Given the description of an element on the screen output the (x, y) to click on. 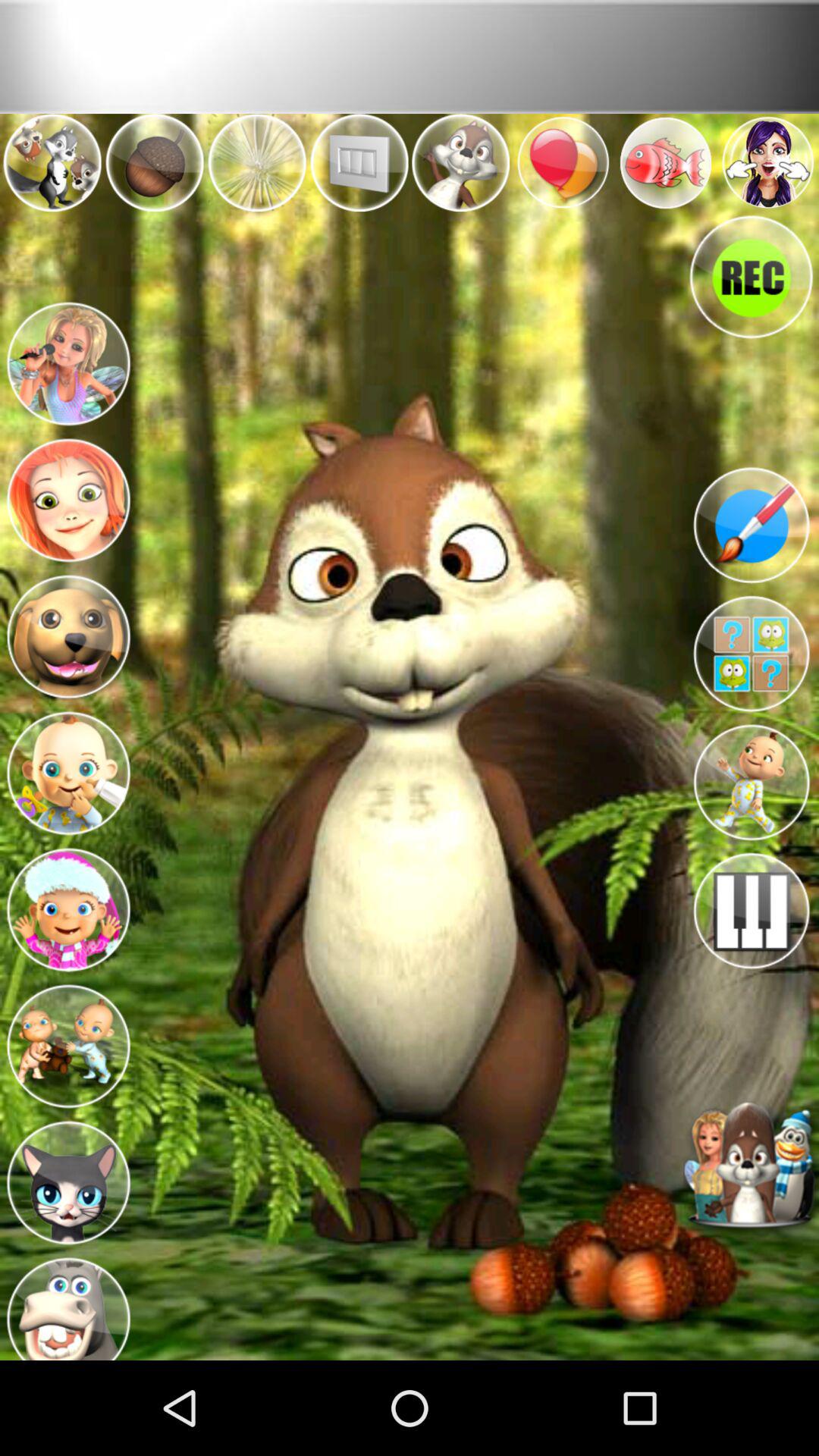
choose paint (751, 525)
